Given the description of an element on the screen output the (x, y) to click on. 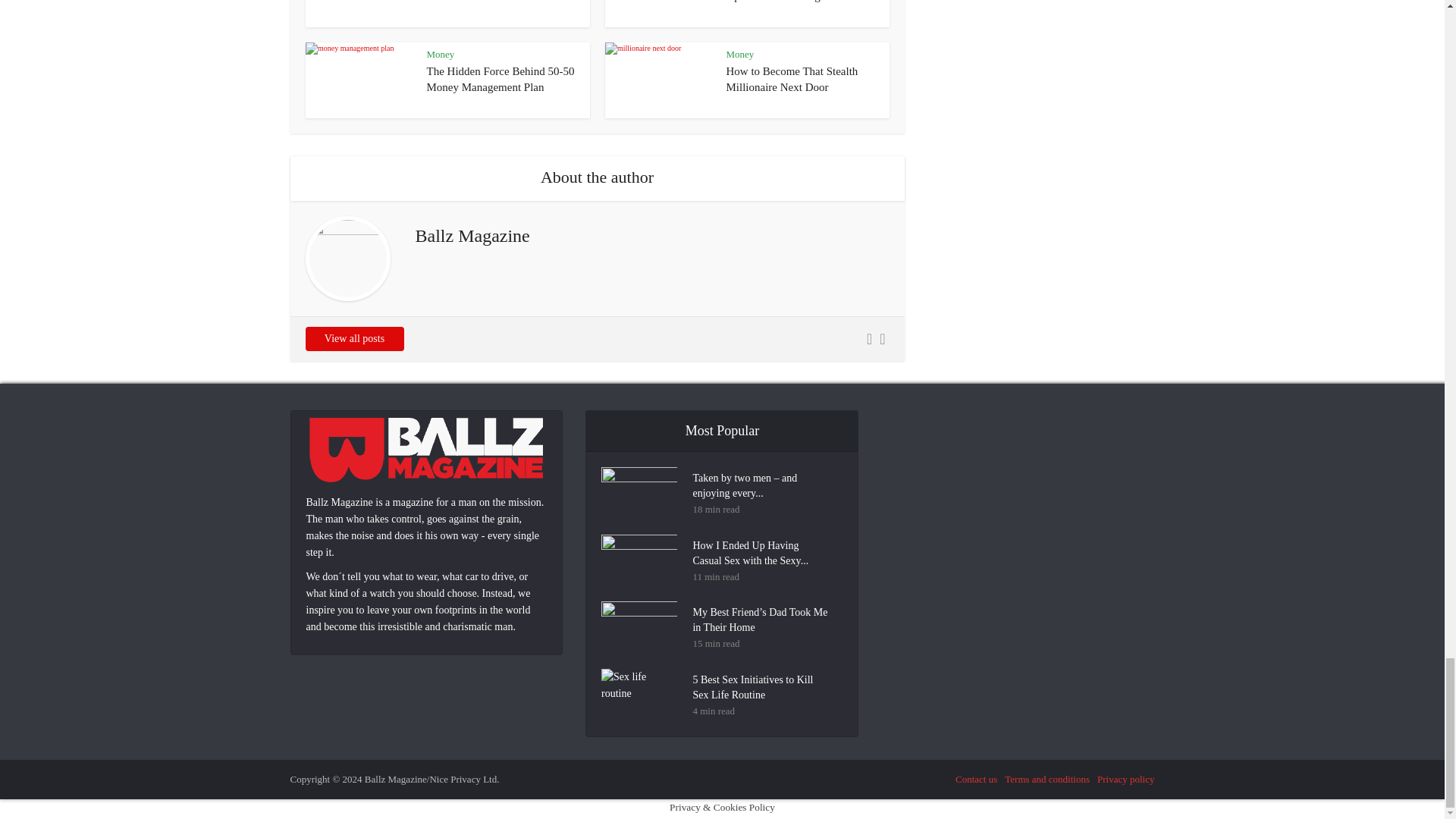
The Hidden Force Behind 50-50 Money Management Plan (499, 78)
3 Things Most Self-Made Millionaires Share (484, 0)
How to Become That Stealth Millionaire Next Door (792, 78)
